Given the description of an element on the screen output the (x, y) to click on. 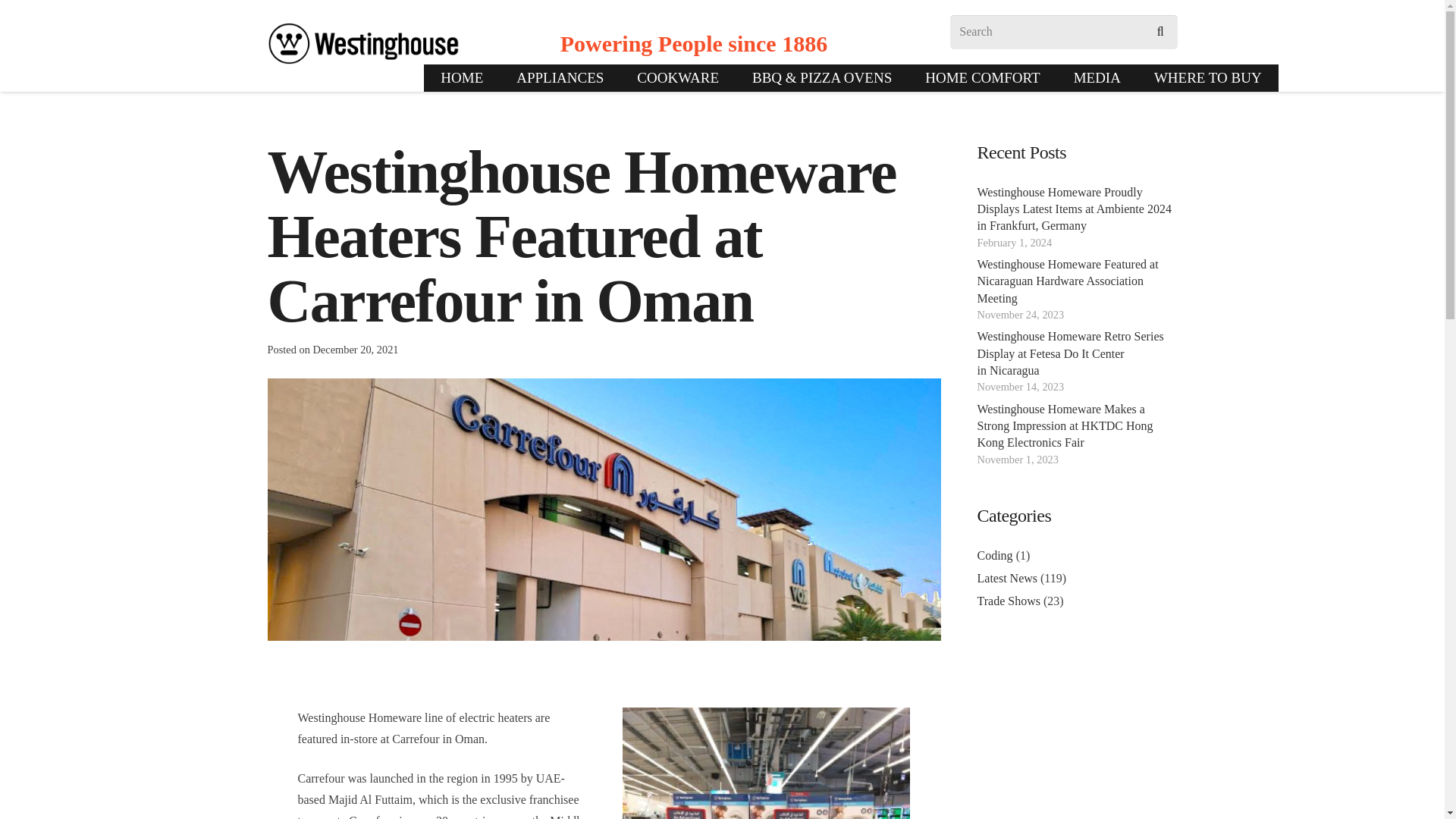
WHERE TO BUY (1207, 77)
MEDIA (1097, 77)
COOKWARE (677, 77)
APPLIANCES (559, 77)
HOME (461, 77)
HOME COMFORT (982, 77)
